Given the description of an element on the screen output the (x, y) to click on. 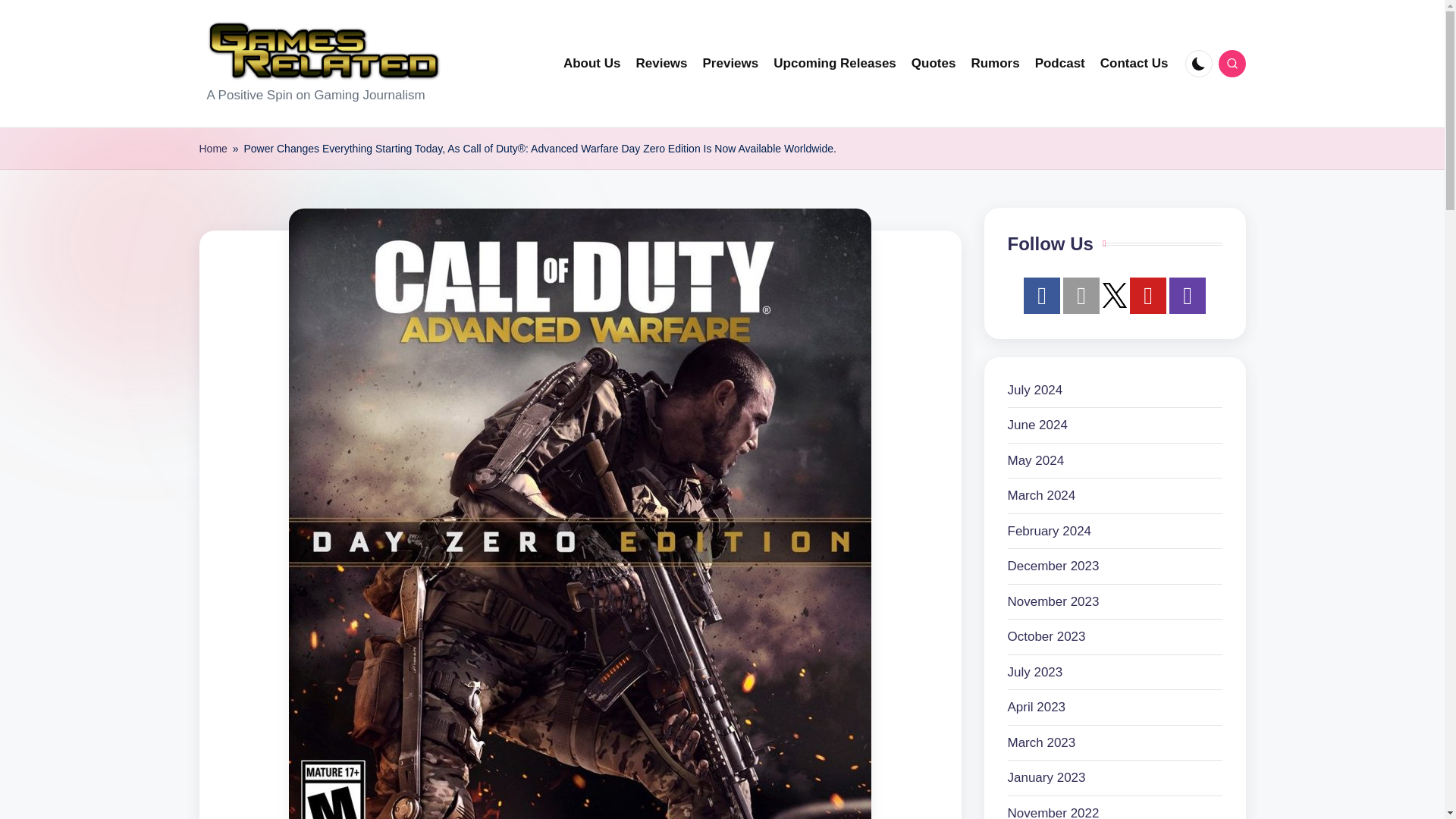
Follow-us-on-X (1114, 294)
join-us-on-twitch (1187, 295)
Contact Us (1134, 63)
July 2023 (1034, 672)
Follow-us-on-X (1114, 294)
March 2023 (1041, 742)
Previews (730, 63)
November 2023 (1053, 601)
May 2024 (1035, 460)
About Us (592, 63)
